Given the description of an element on the screen output the (x, y) to click on. 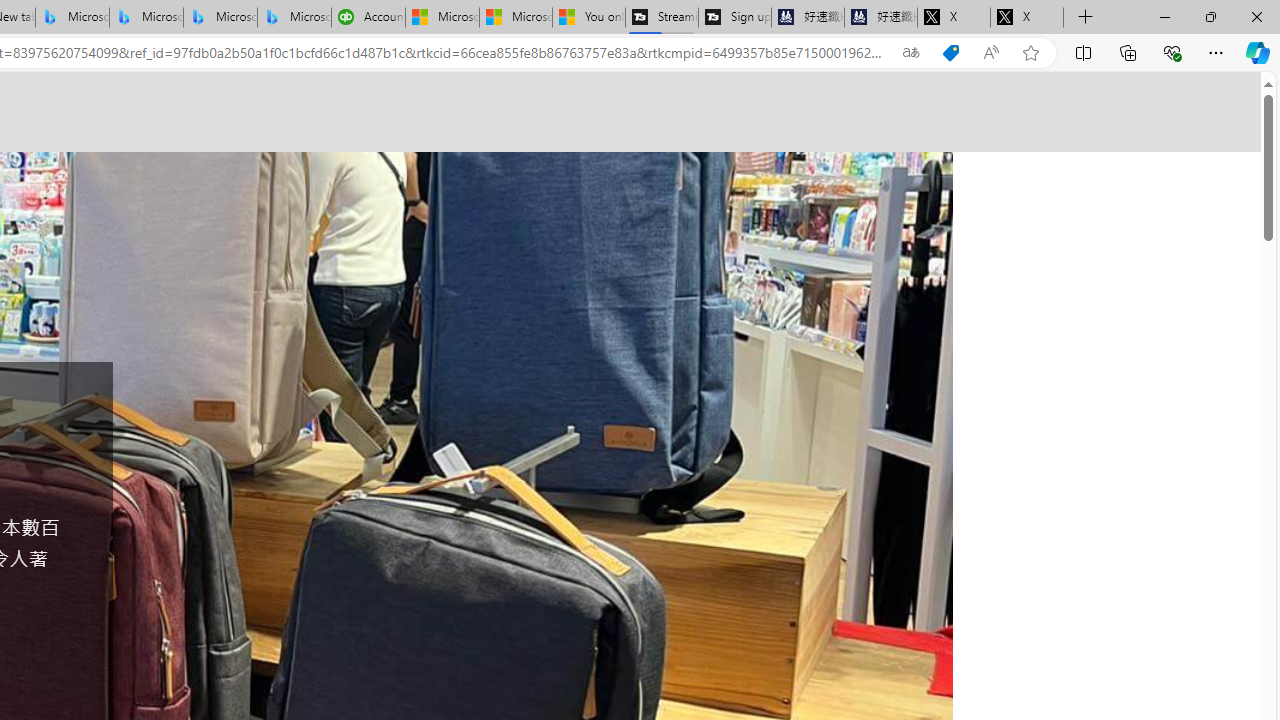
Microsoft Start Sports (441, 17)
Show translate options (910, 53)
Accounting Software for Accountants, CPAs and Bookkeepers (367, 17)
Collections (1128, 52)
This site has coupons! Shopping in Microsoft Edge (950, 53)
X (1026, 17)
Microsoft Bing Travel - Shangri-La Hotel Bangkok (294, 17)
Copilot (Ctrl+Shift+.) (1258, 52)
Restore (1210, 16)
Settings and more (Alt+F) (1215, 52)
Microsoft Bing Travel - Stays in Bangkok, Bangkok, Thailand (146, 17)
Read aloud this page (Ctrl+Shift+U) (991, 53)
